Given the description of an element on the screen output the (x, y) to click on. 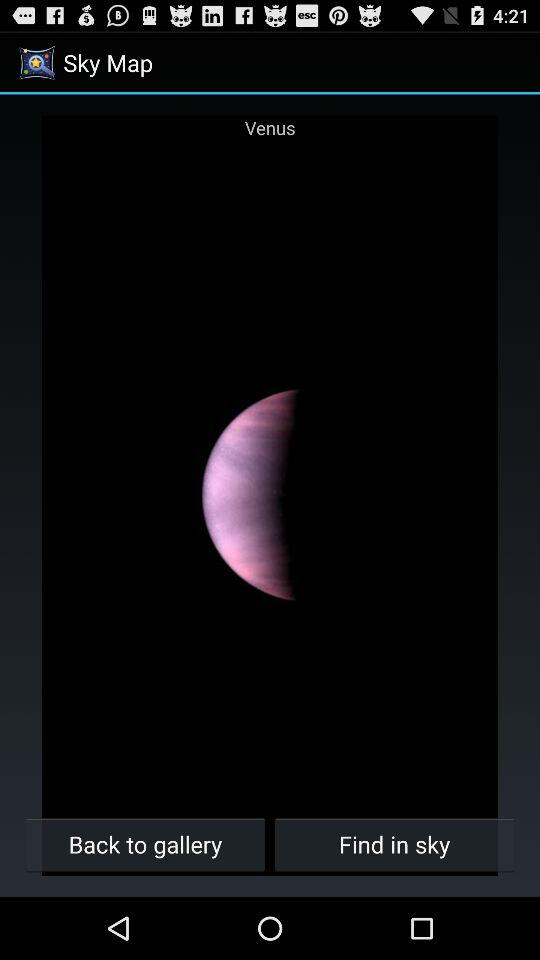
choose the find in sky icon (394, 844)
